Given the description of an element on the screen output the (x, y) to click on. 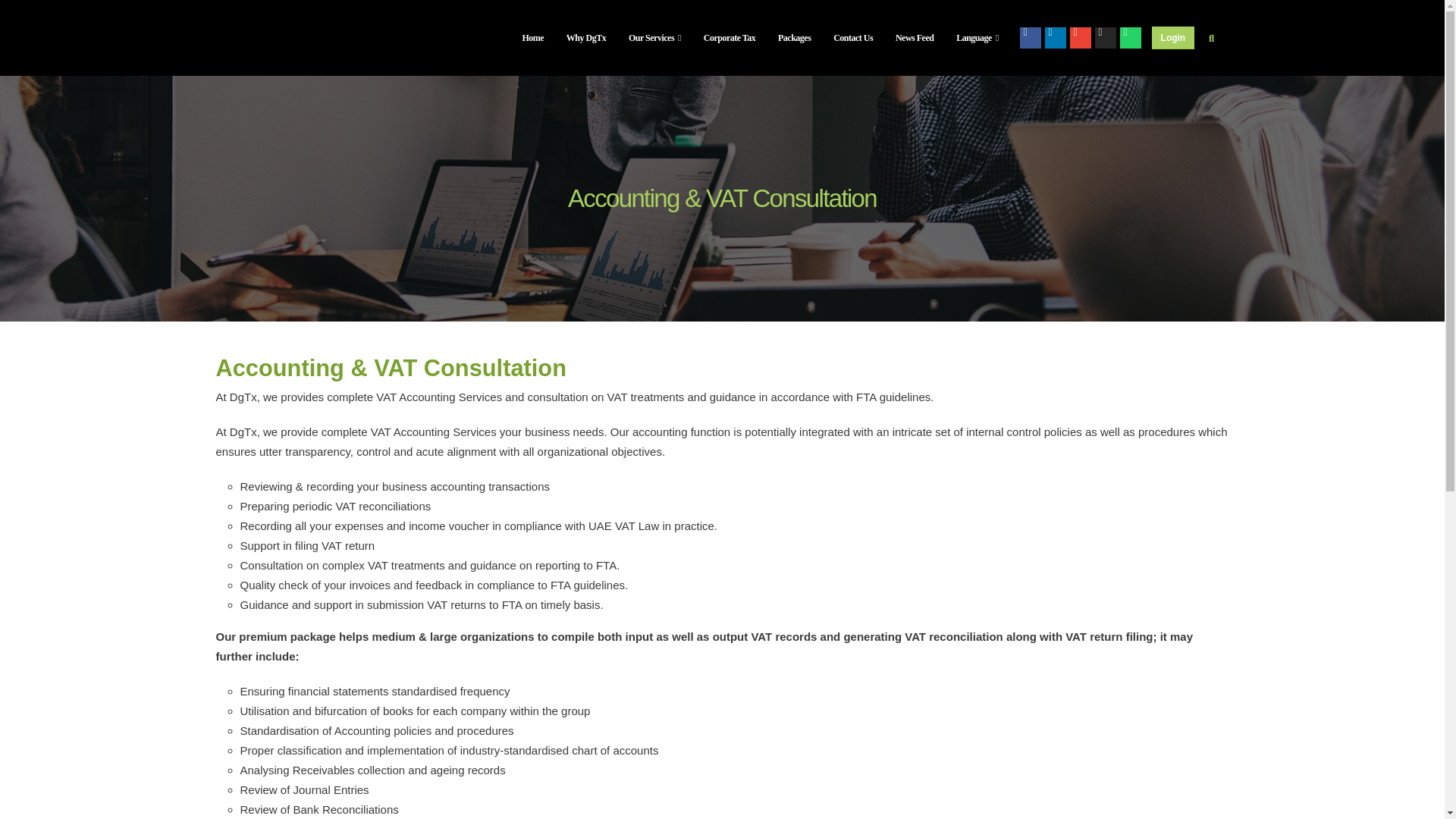
DgTx -  (256, 37)
Corporate Tax (729, 38)
Our Services (655, 38)
Login (1172, 37)
